Given the description of an element on the screen output the (x, y) to click on. 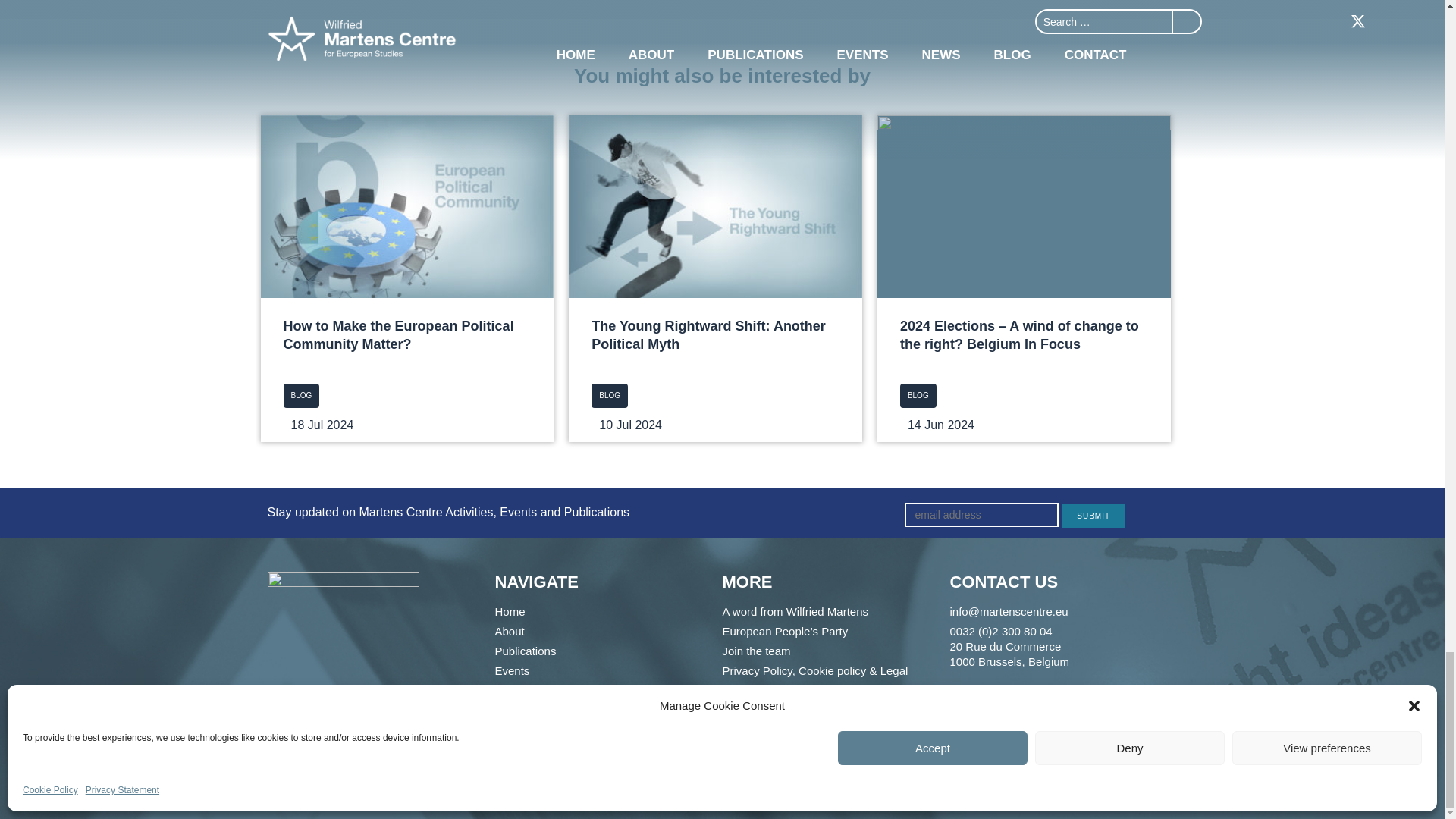
Submit (1093, 515)
